Given the description of an element on the screen output the (x, y) to click on. 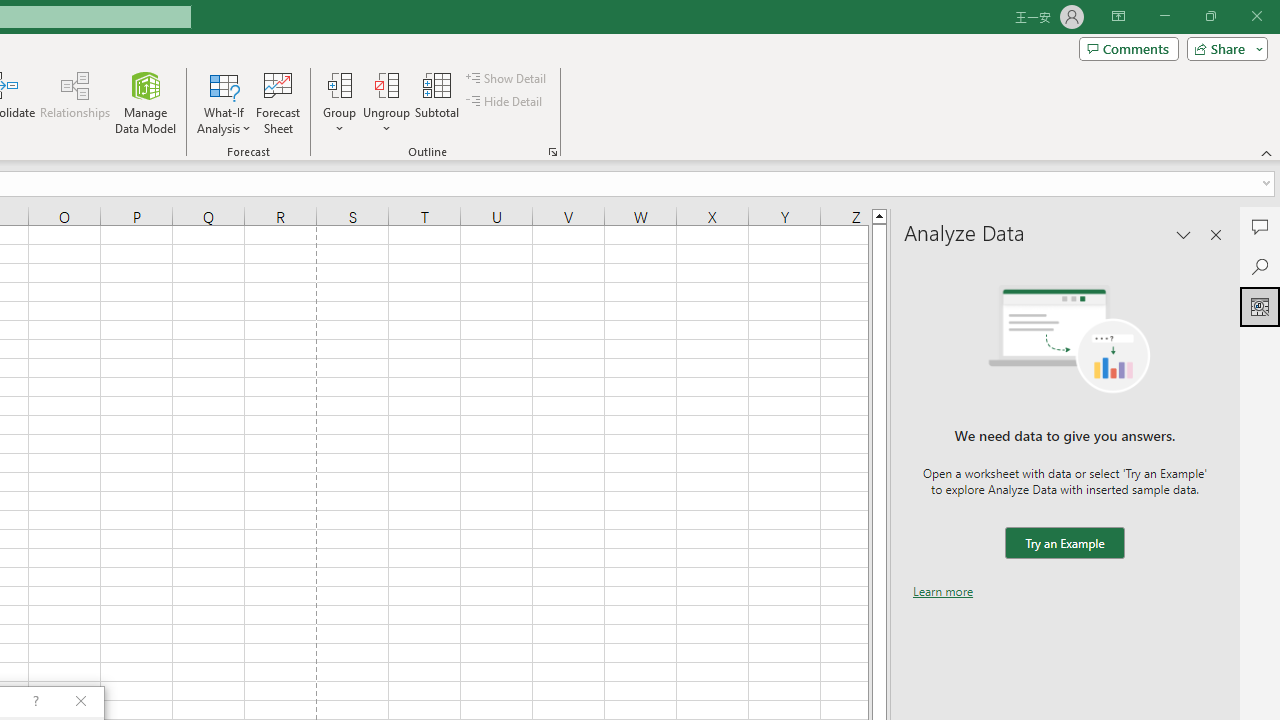
Manage Data Model (145, 102)
Share (1223, 48)
Show Detail (507, 78)
What-If Analysis (223, 102)
Learn more (943, 591)
Collapse the Ribbon (1267, 152)
Ribbon Display Options (1118, 16)
Analyze Data (1260, 306)
Subtotal (437, 102)
Close pane (1215, 234)
Line up (879, 215)
Relationships (75, 102)
